Given the description of an element on the screen output the (x, y) to click on. 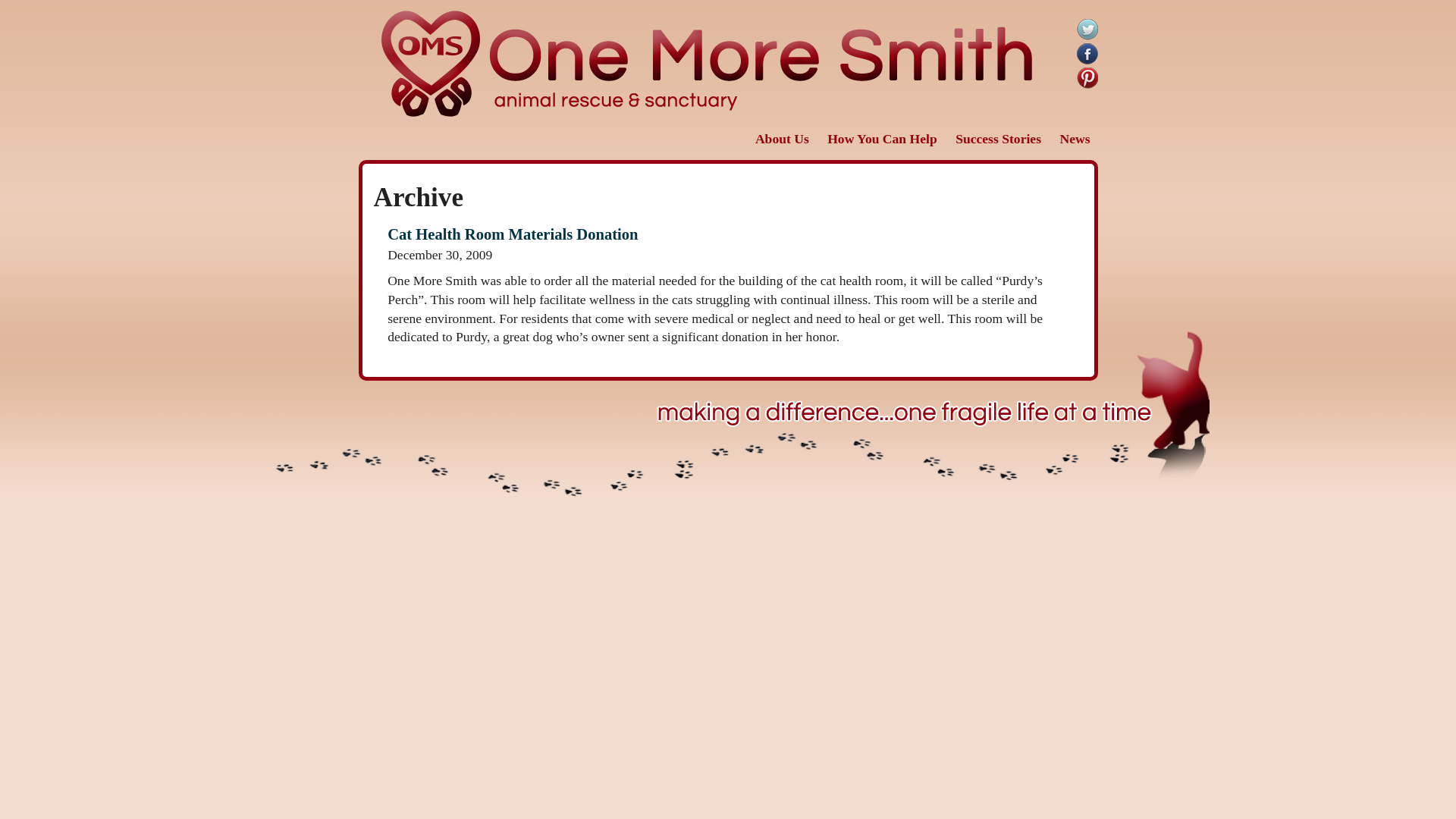
Success Stories (998, 138)
How You Can Help (882, 138)
About Us (782, 138)
Cat Health Room Materials Donation (727, 242)
News (1074, 138)
